Given the description of an element on the screen output the (x, y) to click on. 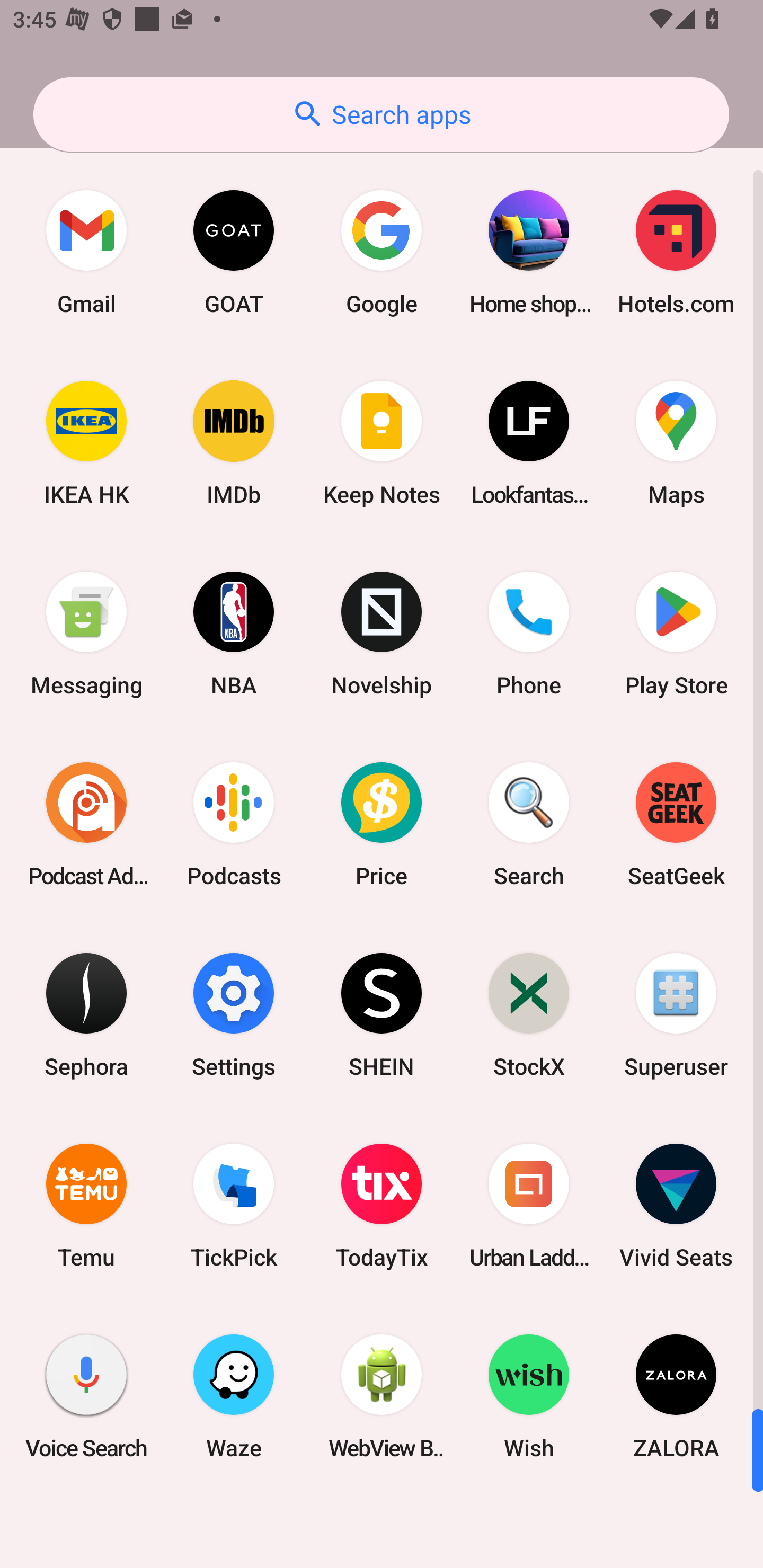
  Search apps (381, 114)
Gmail (86, 252)
GOAT (233, 252)
Google (381, 252)
Home shopping (528, 252)
Hotels.com (676, 252)
IKEA HK (86, 442)
IMDb (233, 442)
Keep Notes (381, 442)
Lookfantastic (528, 442)
Maps (676, 442)
Messaging (86, 633)
NBA (233, 633)
Novelship (381, 633)
Phone (528, 633)
Play Store (676, 633)
Podcast Addict (86, 823)
Podcasts (233, 823)
Price (381, 823)
Search (528, 823)
SeatGeek (676, 823)
Sephora (86, 1014)
Settings (233, 1014)
SHEIN (381, 1014)
StockX (528, 1014)
Superuser (676, 1014)
Temu (86, 1205)
TickPick (233, 1205)
TodayTix (381, 1205)
Urban Ladder (528, 1205)
Vivid Seats (676, 1205)
Voice Search (86, 1396)
Waze (233, 1396)
WebView Browser Tester (381, 1396)
Wish (528, 1396)
ZALORA (676, 1396)
